Given the description of an element on the screen output the (x, y) to click on. 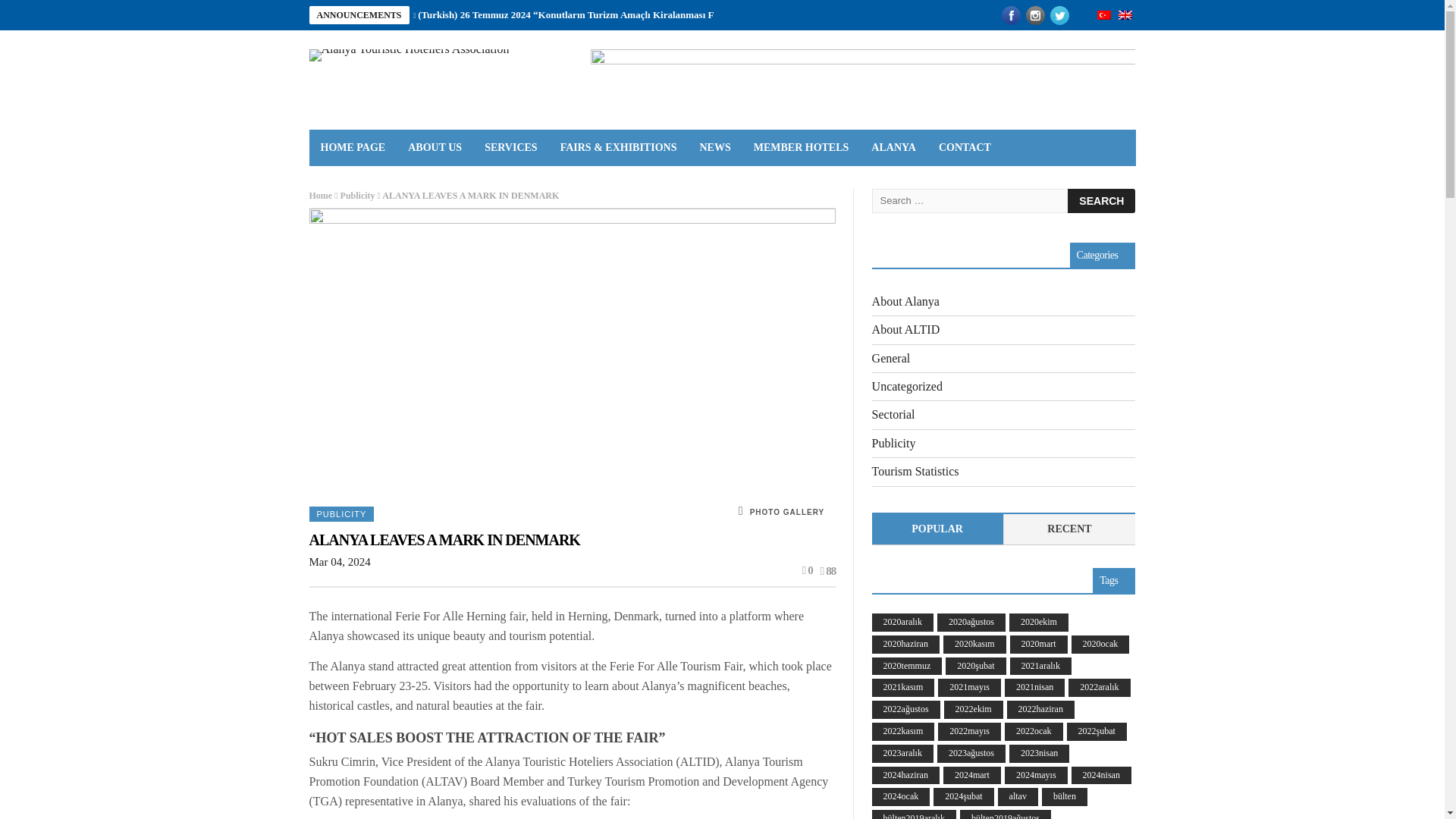
SERVICES (510, 147)
HOME PAGE (352, 147)
MEMBER HOTELS (801, 147)
ABOUT US (434, 147)
ANNOUNCEMENTS (359, 14)
Search (1101, 200)
Search (1101, 200)
NEWS (714, 147)
